Given the description of an element on the screen output the (x, y) to click on. 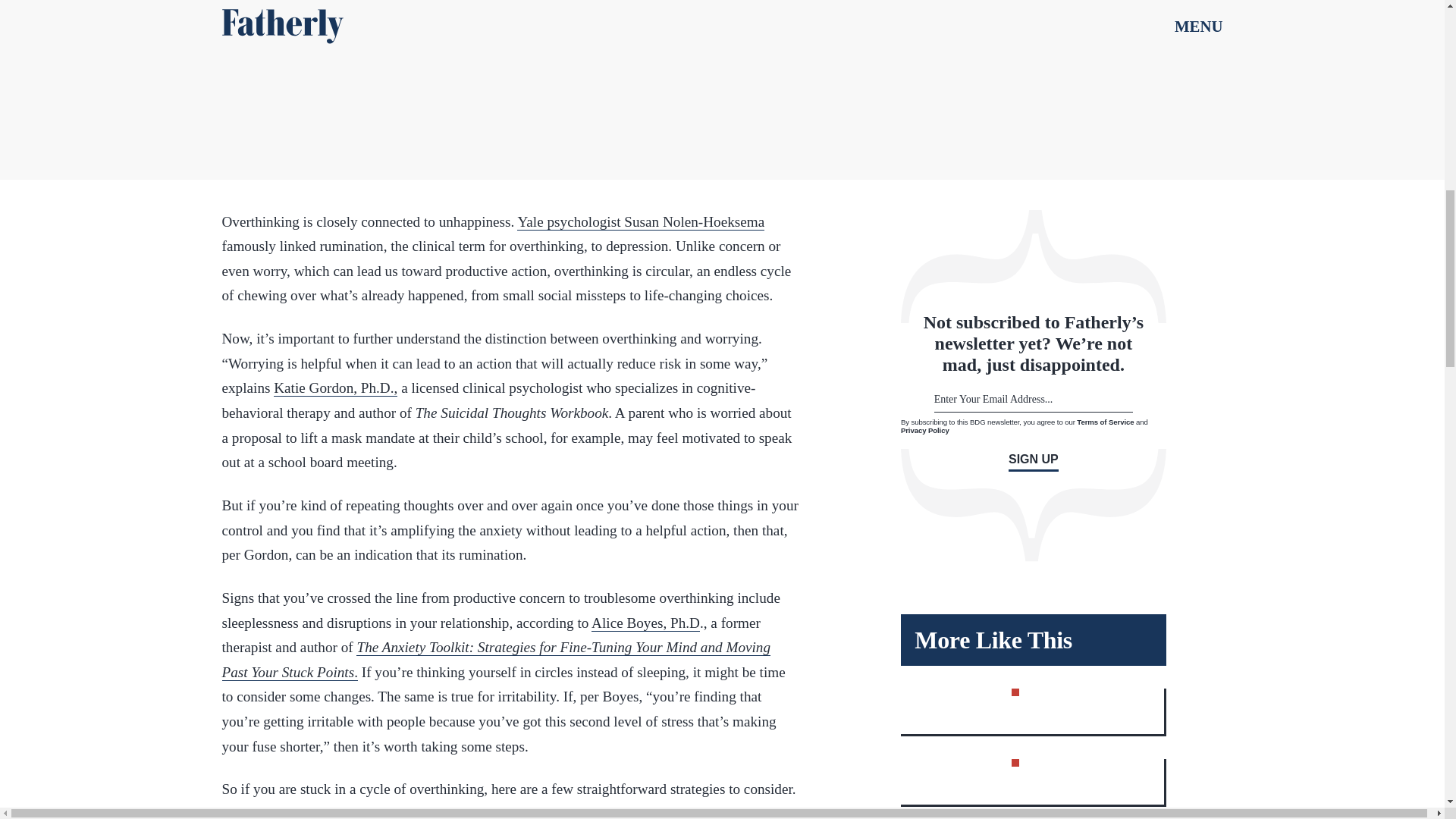
Terms of Service (1105, 421)
SIGN UP (1033, 461)
Privacy Policy (925, 429)
Alice Boyes, Ph.D (645, 623)
Katie Gordon, Ph.D., (335, 388)
3rd party ad content (722, 74)
Yale psychologist Susan Nolen-Hoeksema (640, 221)
